Given the description of an element on the screen output the (x, y) to click on. 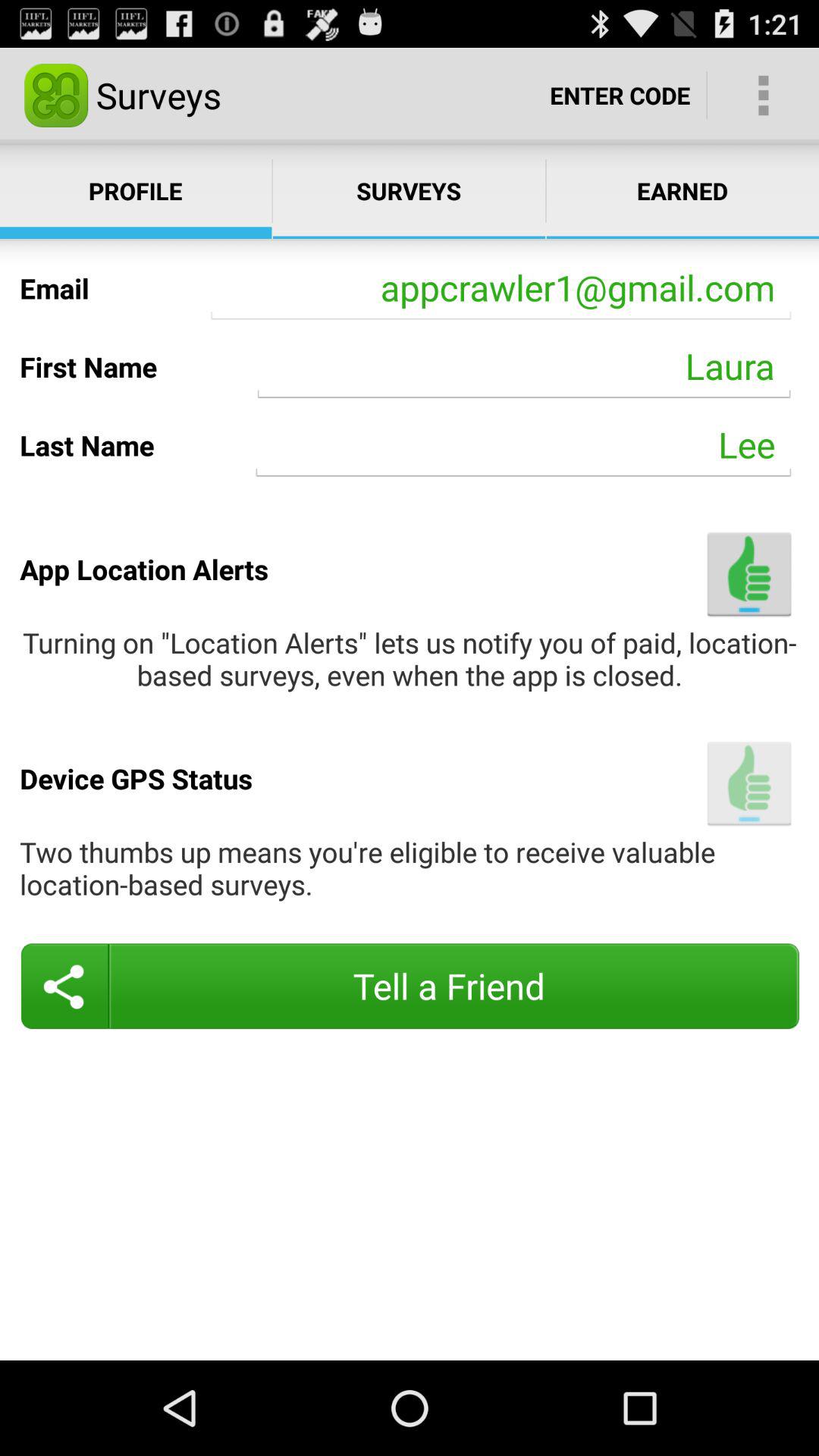
thumb up button (749, 783)
